Given the description of an element on the screen output the (x, y) to click on. 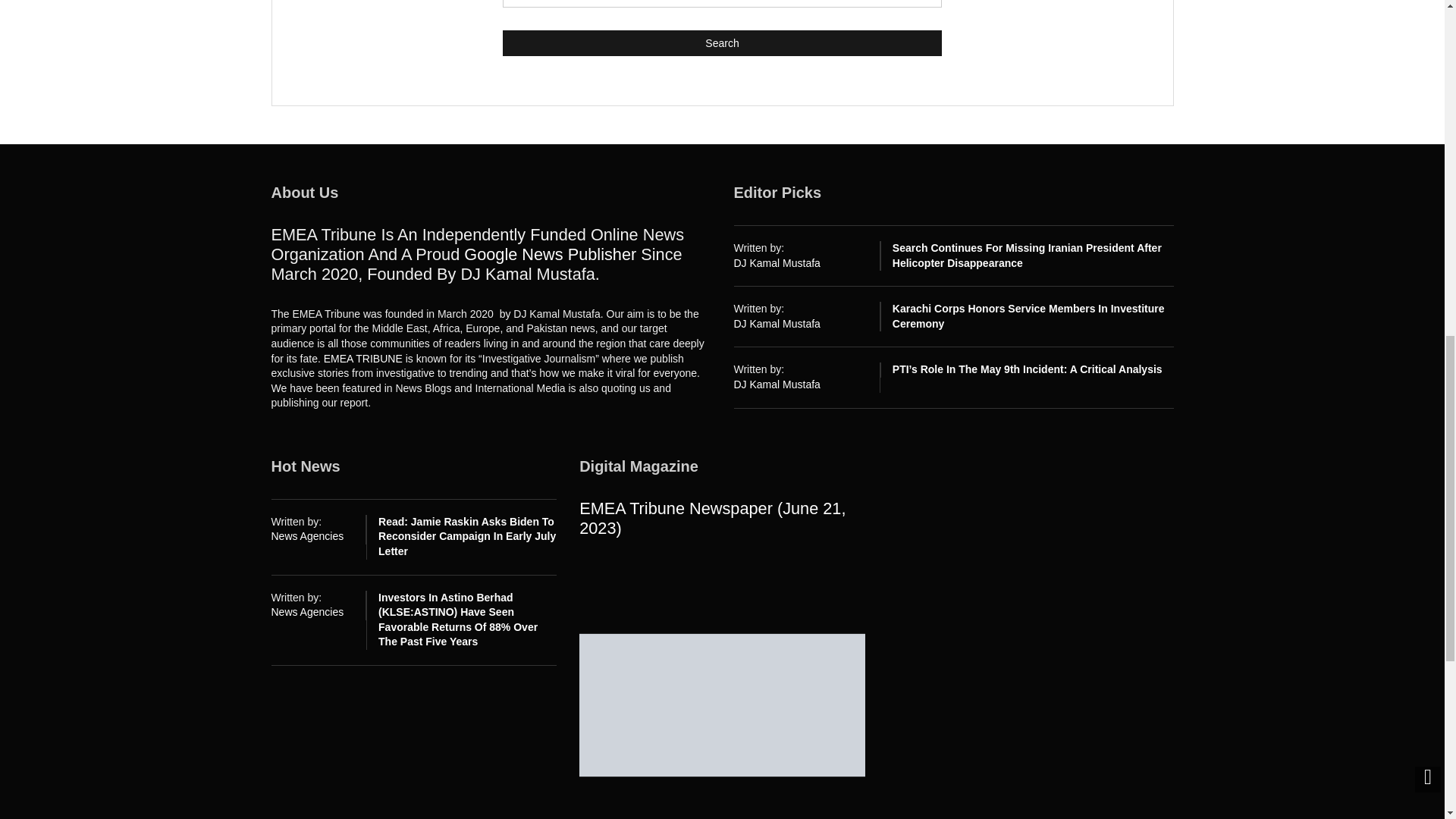
Search (722, 43)
Search (722, 43)
Karachi Corps Honors Service Members in Investiture Ceremony (1028, 316)
